Given the description of an element on the screen output the (x, y) to click on. 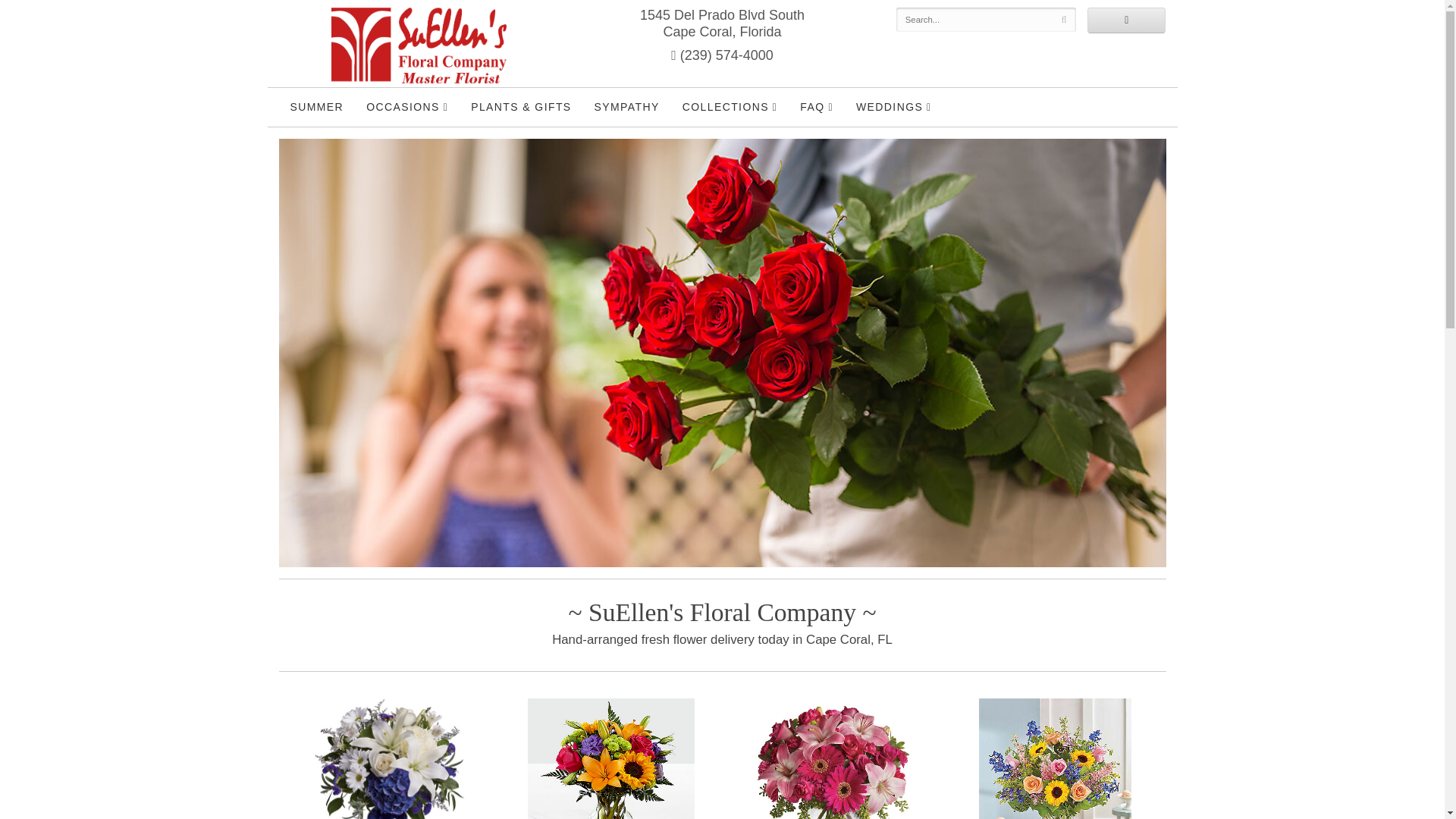
SuEllen'S Floral Company (418, 45)
OCCASIONS (407, 106)
COLLECTIONS (730, 106)
SUMMER (317, 106)
SYMPATHY (627, 106)
FAQ (816, 106)
WEDDINGS (893, 106)
